Given the description of an element on the screen output the (x, y) to click on. 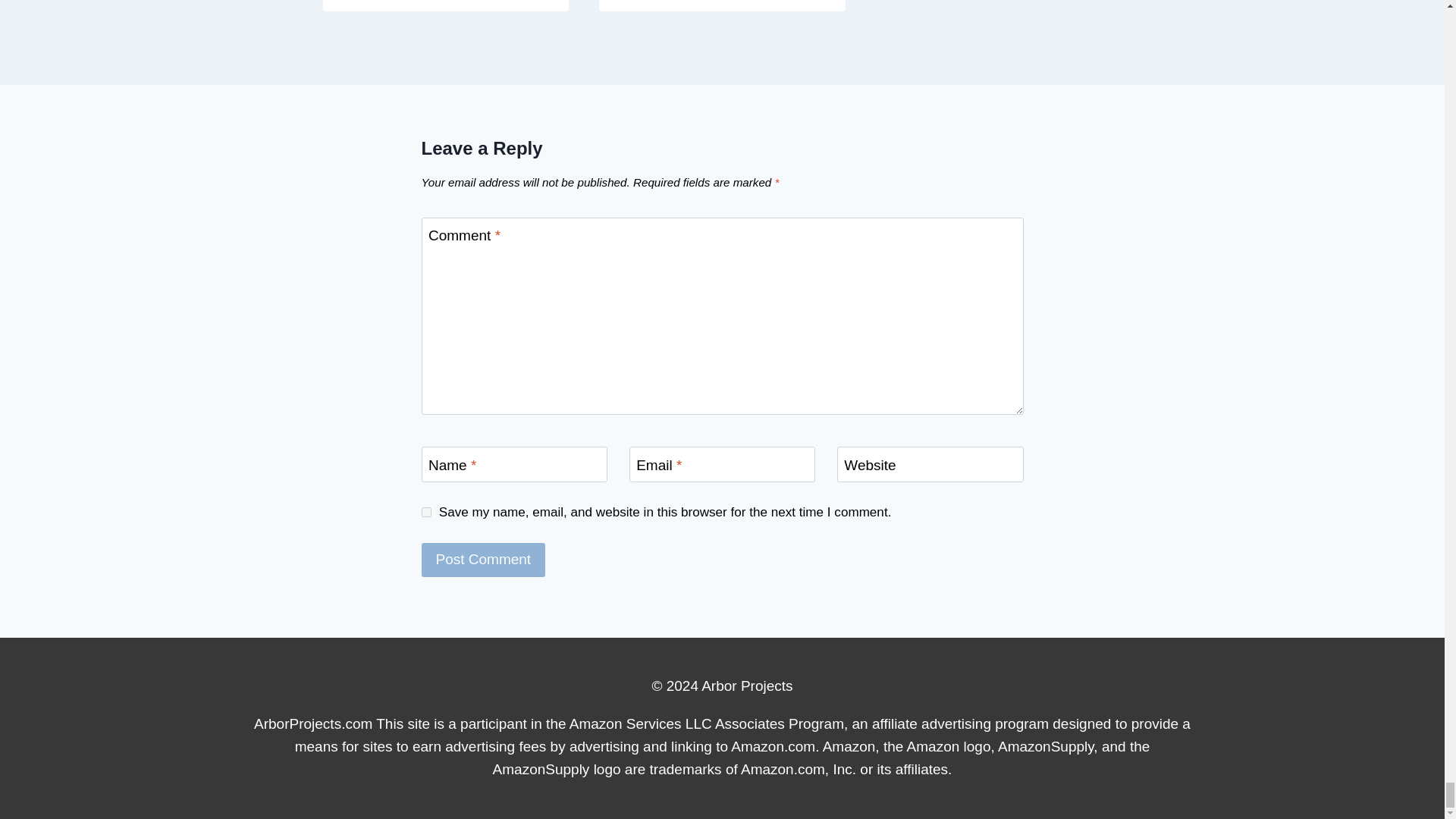
yes (426, 511)
Post Comment (484, 560)
